Given the description of an element on the screen output the (x, y) to click on. 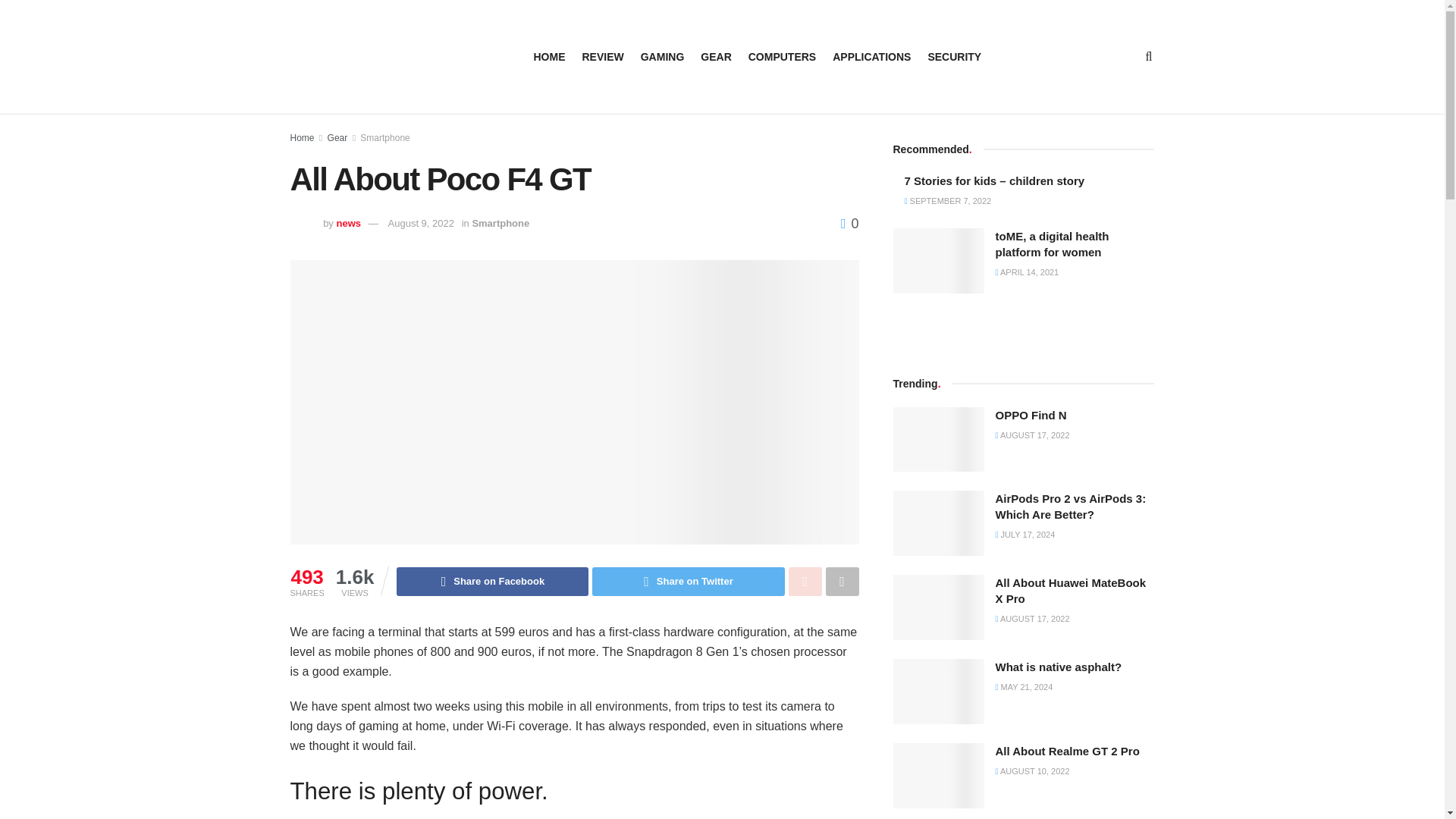
GEAR (715, 56)
GAMING (662, 56)
HOME (550, 56)
REVIEW (603, 56)
